Given the description of an element on the screen output the (x, y) to click on. 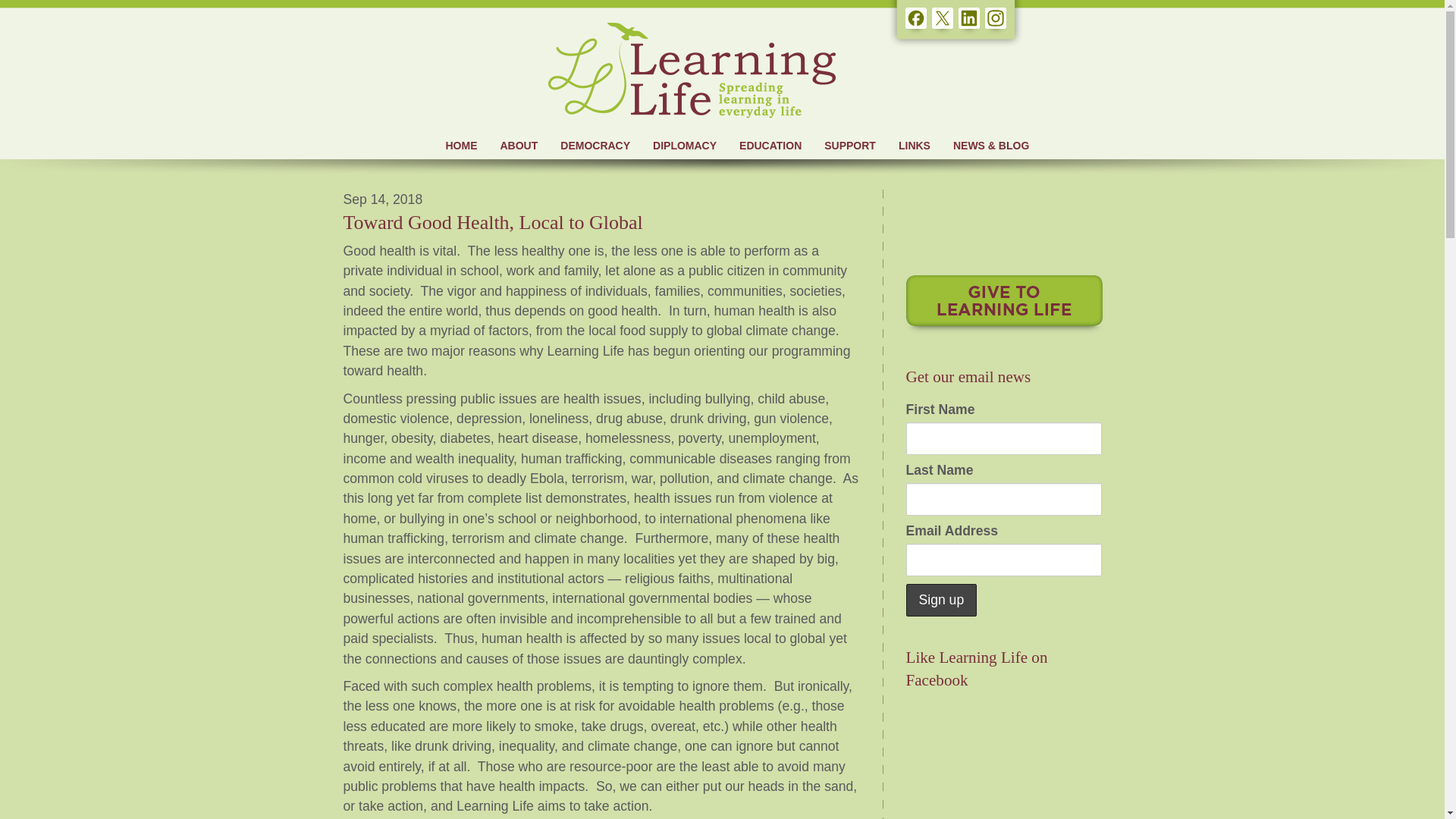
LINKS (914, 145)
ABOUT (517, 145)
HOME (460, 145)
Sign up (940, 599)
DIPLOMACY (685, 145)
SUPPORT (849, 145)
EDUCATION (770, 145)
Sign up (940, 599)
DEMOCRACY (595, 145)
